Given the description of an element on the screen output the (x, y) to click on. 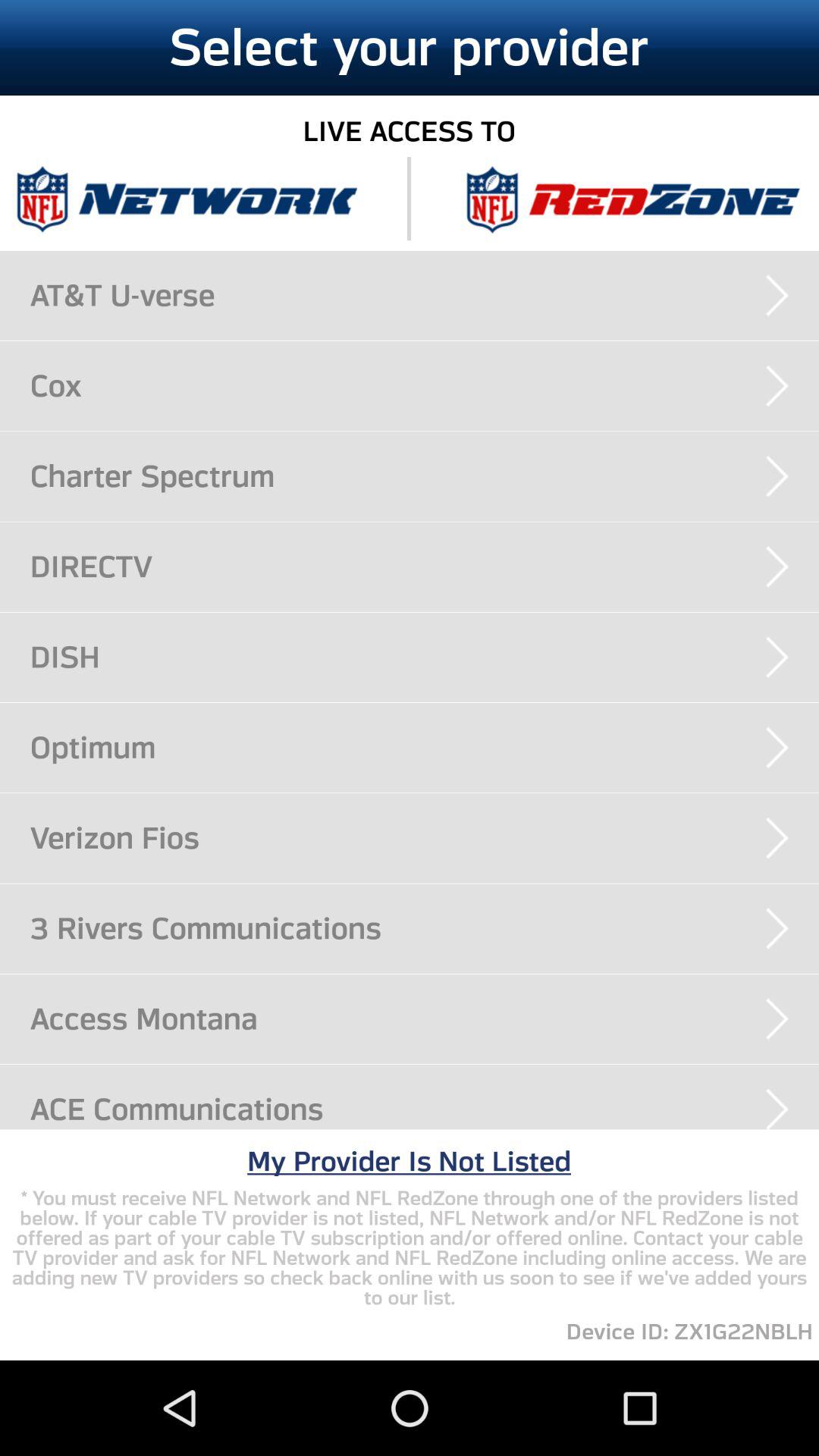
swipe until 3 rivers communications icon (424, 928)
